Given the description of an element on the screen output the (x, y) to click on. 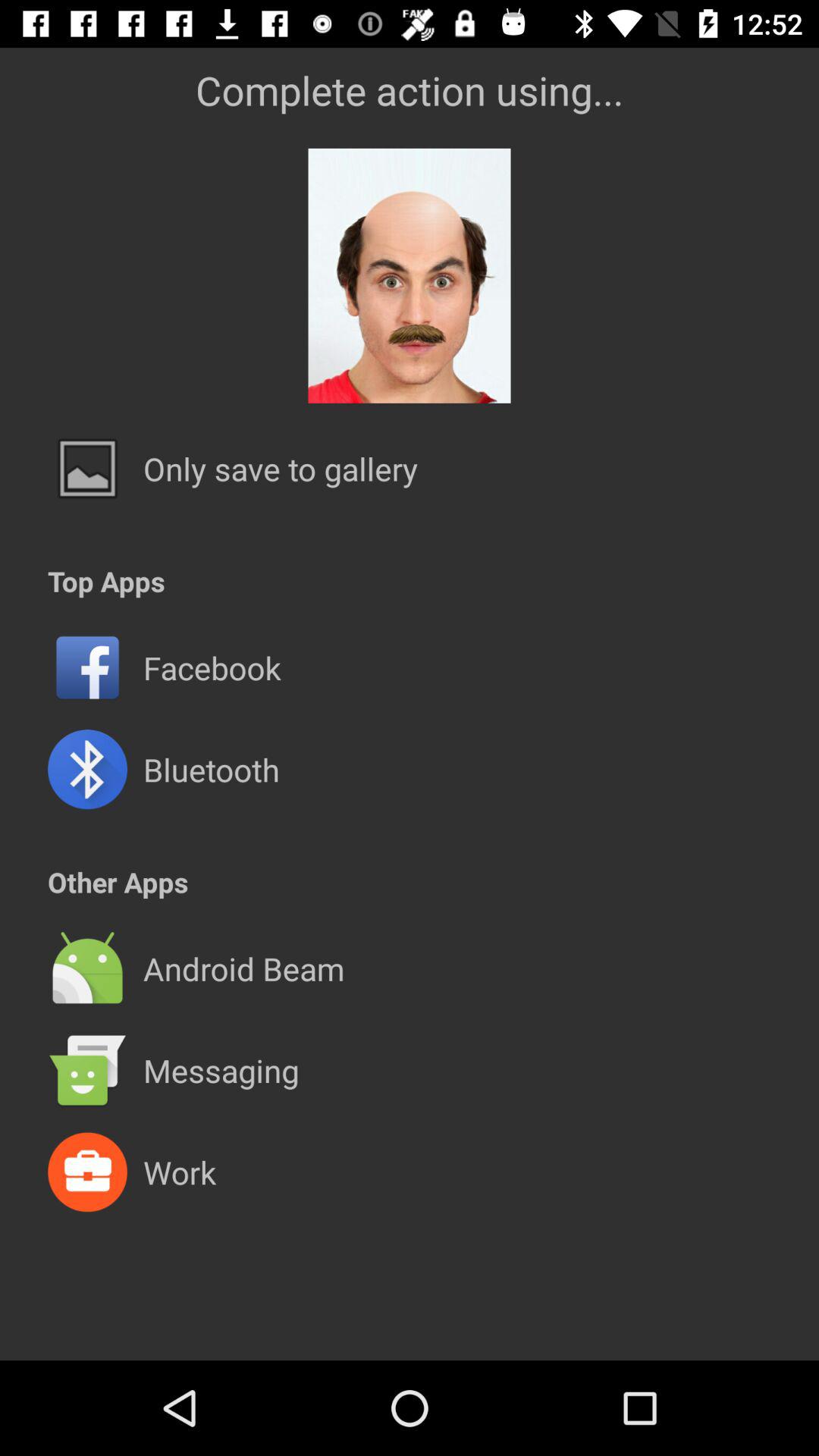
jump to android beam app (243, 968)
